Given the description of an element on the screen output the (x, y) to click on. 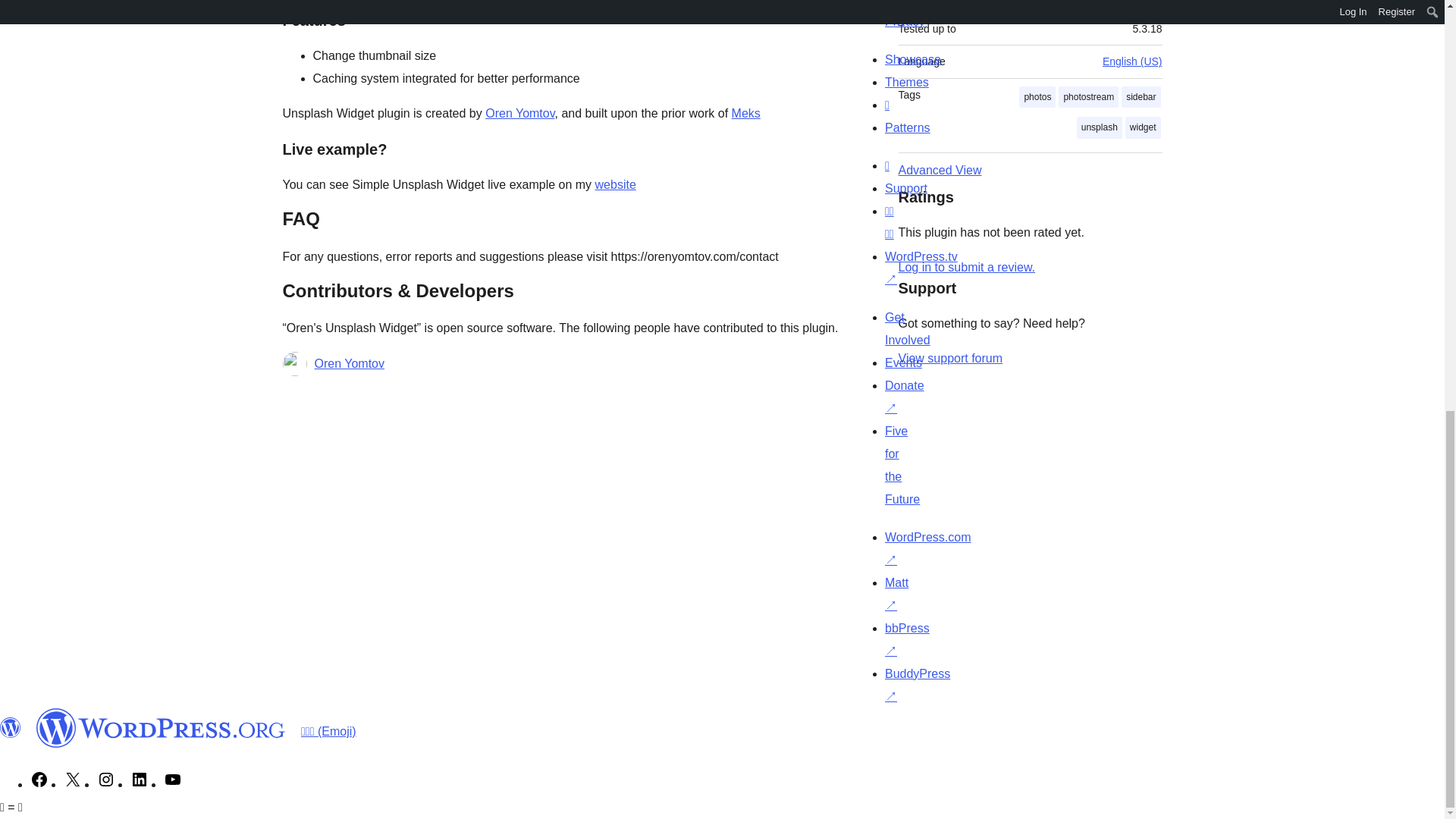
WordPress.org (10, 727)
Oren Yomtov (349, 363)
WordPress.org (160, 727)
website (615, 184)
Oren Yomtov (519, 113)
Meks (746, 113)
Log in to WordPress.org (966, 267)
